Given the description of an element on the screen output the (x, y) to click on. 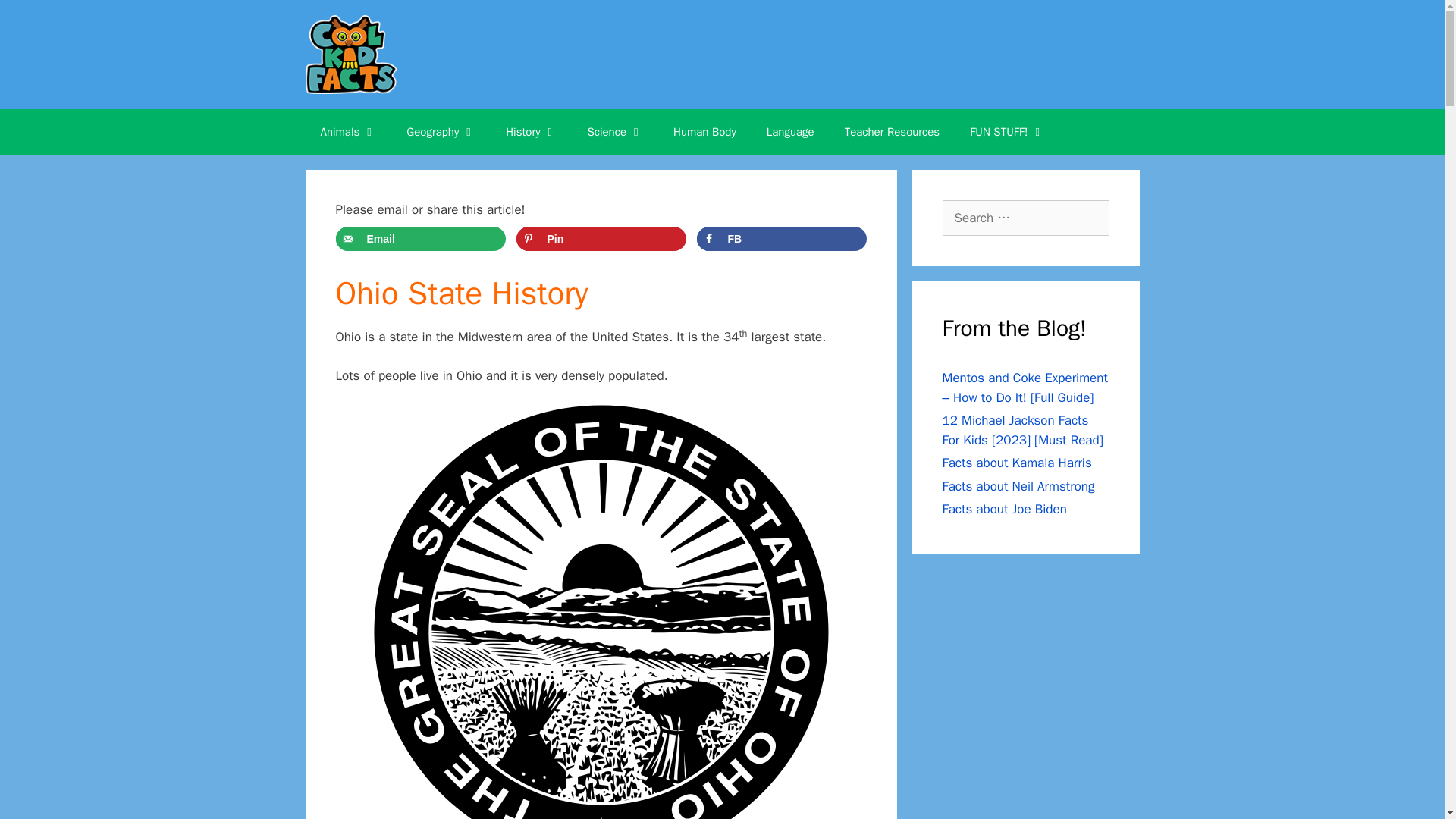
Animals (347, 131)
History (531, 131)
Send over email (419, 238)
Search for: (1025, 217)
Geography (440, 131)
Save to Pinterest (600, 238)
Science (615, 131)
Share on Facebook (780, 238)
